Given the description of an element on the screen output the (x, y) to click on. 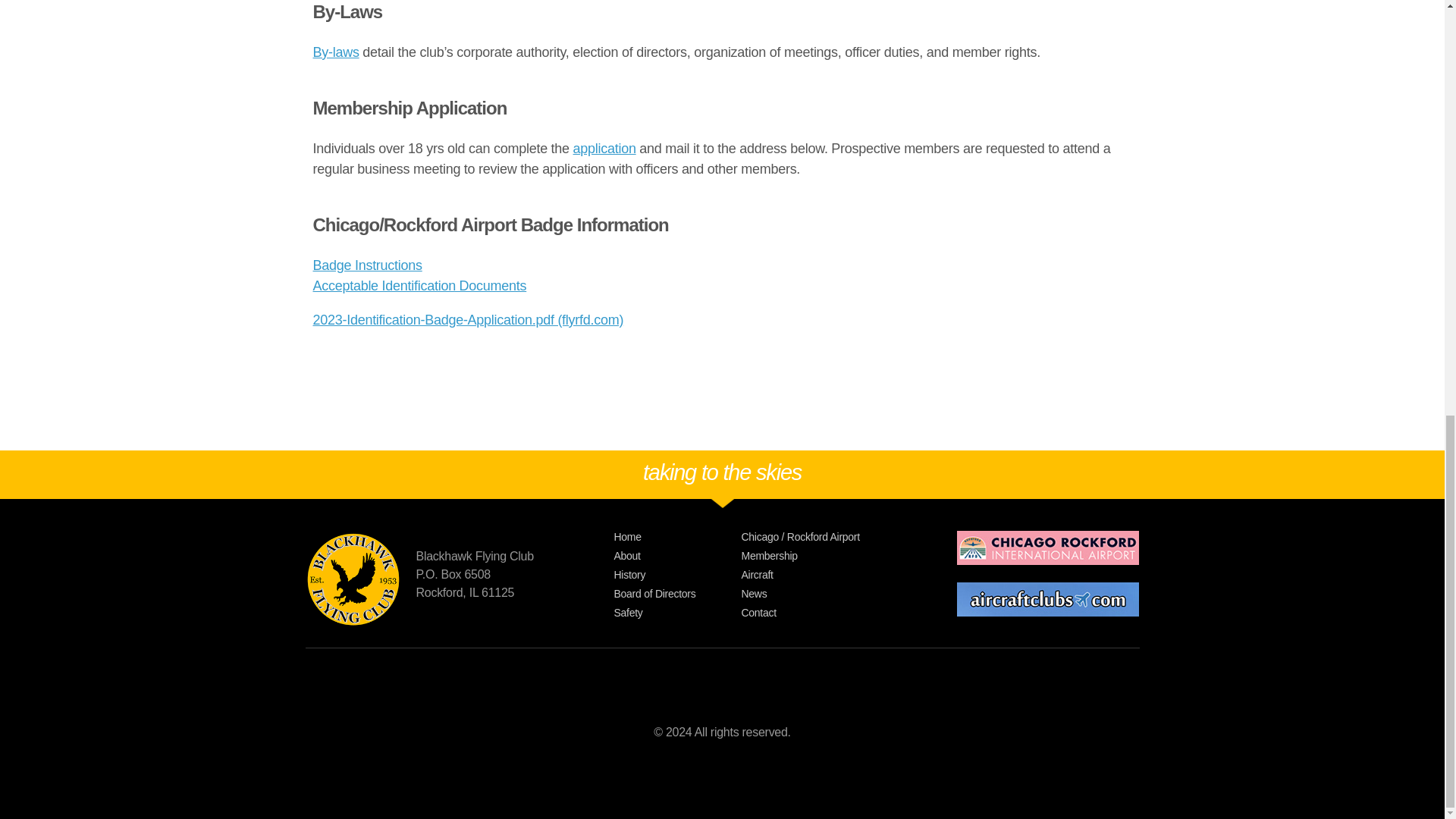
Contact (836, 612)
application (604, 148)
Aircraft (836, 575)
By-laws (335, 52)
History (677, 575)
Board of Directors (677, 593)
About (677, 555)
News (836, 593)
Membership (836, 555)
Safety (677, 612)
Home (677, 537)
Badge Instructions (367, 264)
Acceptable Identification Documents (419, 285)
